Given the description of an element on the screen output the (x, y) to click on. 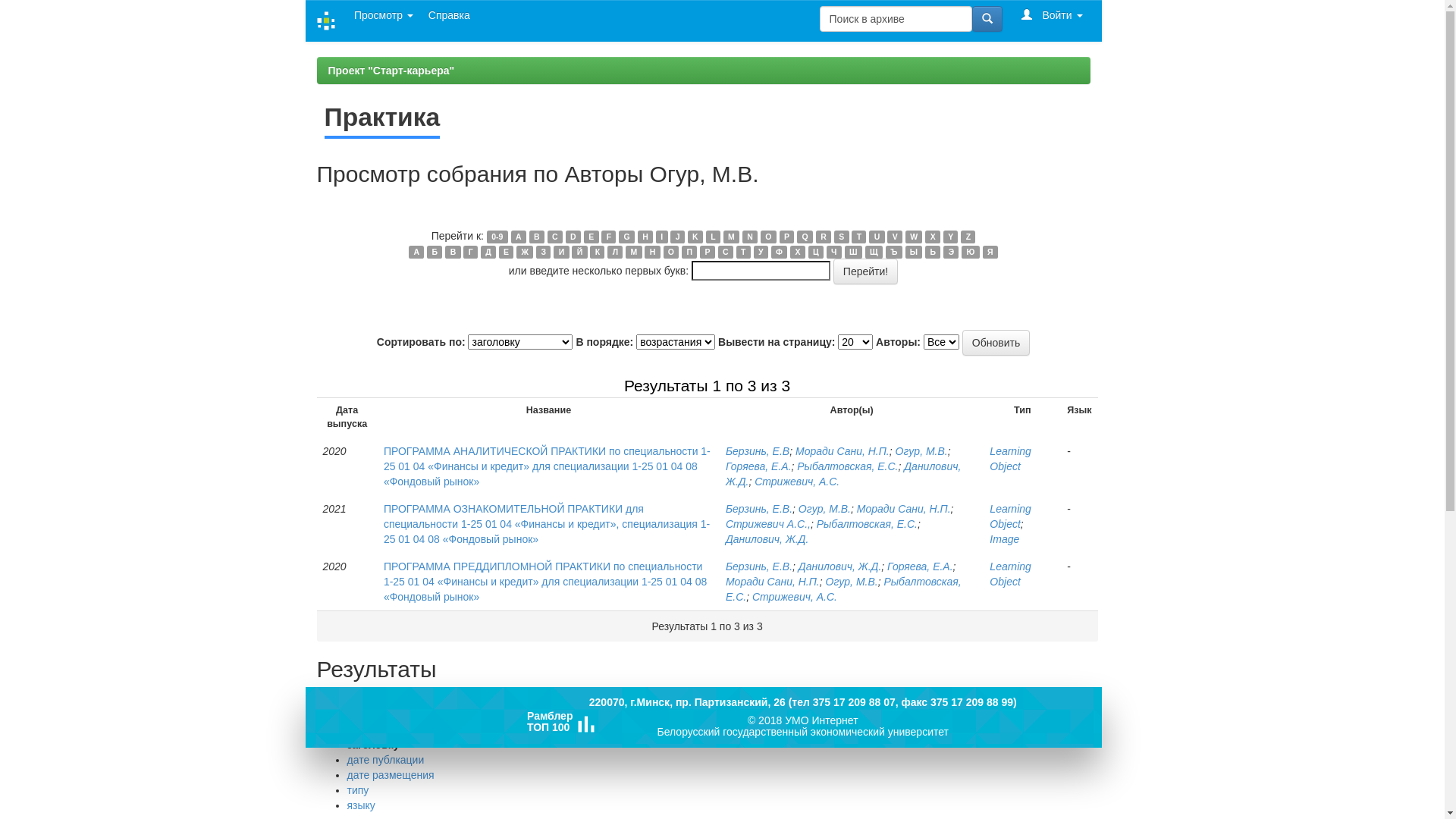
V Element type: text (894, 236)
Learning Object Element type: text (1010, 573)
Z Element type: text (967, 236)
Q Element type: text (804, 236)
X Element type: text (932, 236)
B Element type: text (536, 236)
Y Element type: text (950, 236)
E Element type: text (591, 236)
0-9 Element type: text (497, 236)
R Element type: text (823, 236)
N Element type: text (749, 236)
H Element type: text (644, 236)
F Element type: text (608, 236)
G Element type: text (626, 236)
U Element type: text (876, 236)
P Element type: text (786, 236)
I Element type: text (661, 236)
Learning Object Element type: text (1010, 516)
C Element type: text (554, 236)
D Element type: text (572, 236)
J Element type: text (677, 236)
O Element type: text (768, 236)
A Element type: text (518, 236)
M Element type: text (731, 236)
Image Element type: text (1004, 539)
S Element type: text (841, 236)
K Element type: text (694, 236)
T Element type: text (858, 236)
Learning Object Element type: text (1010, 458)
W Element type: text (913, 236)
L Element type: text (713, 236)
